Given the description of an element on the screen output the (x, y) to click on. 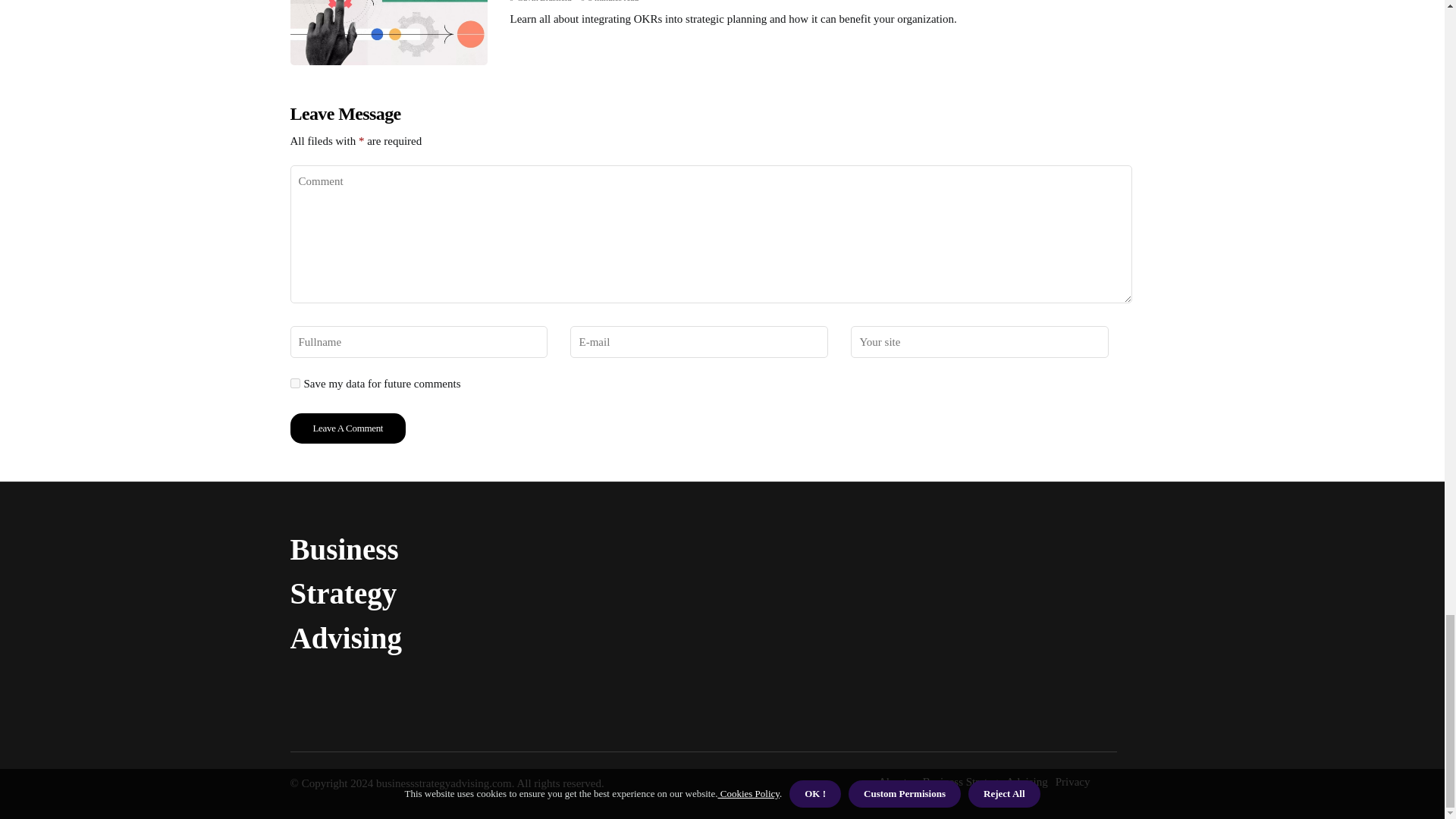
yes (294, 383)
Leave a Comment (347, 428)
Posts by Gavin Brasfield (544, 1)
